Given the description of an element on the screen output the (x, y) to click on. 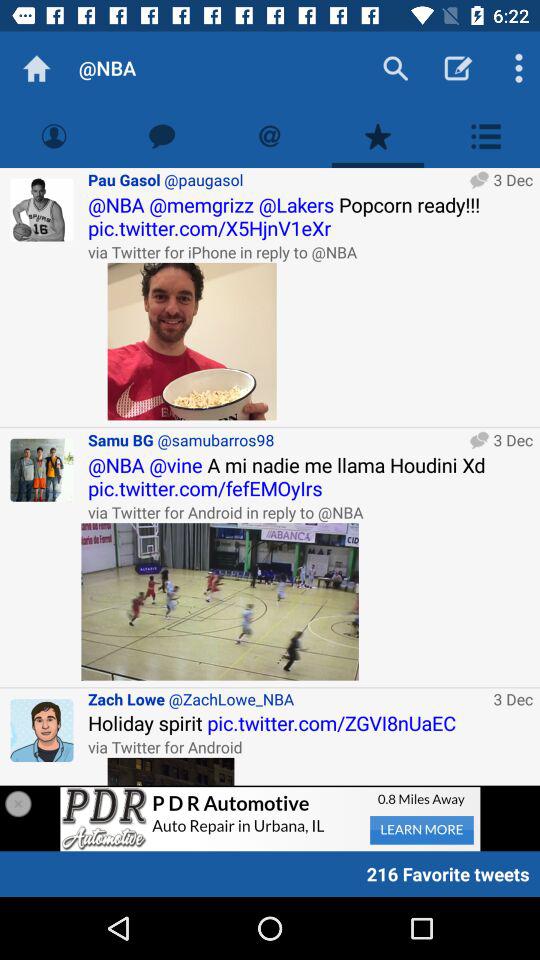
tags (270, 136)
